Given the description of an element on the screen output the (x, y) to click on. 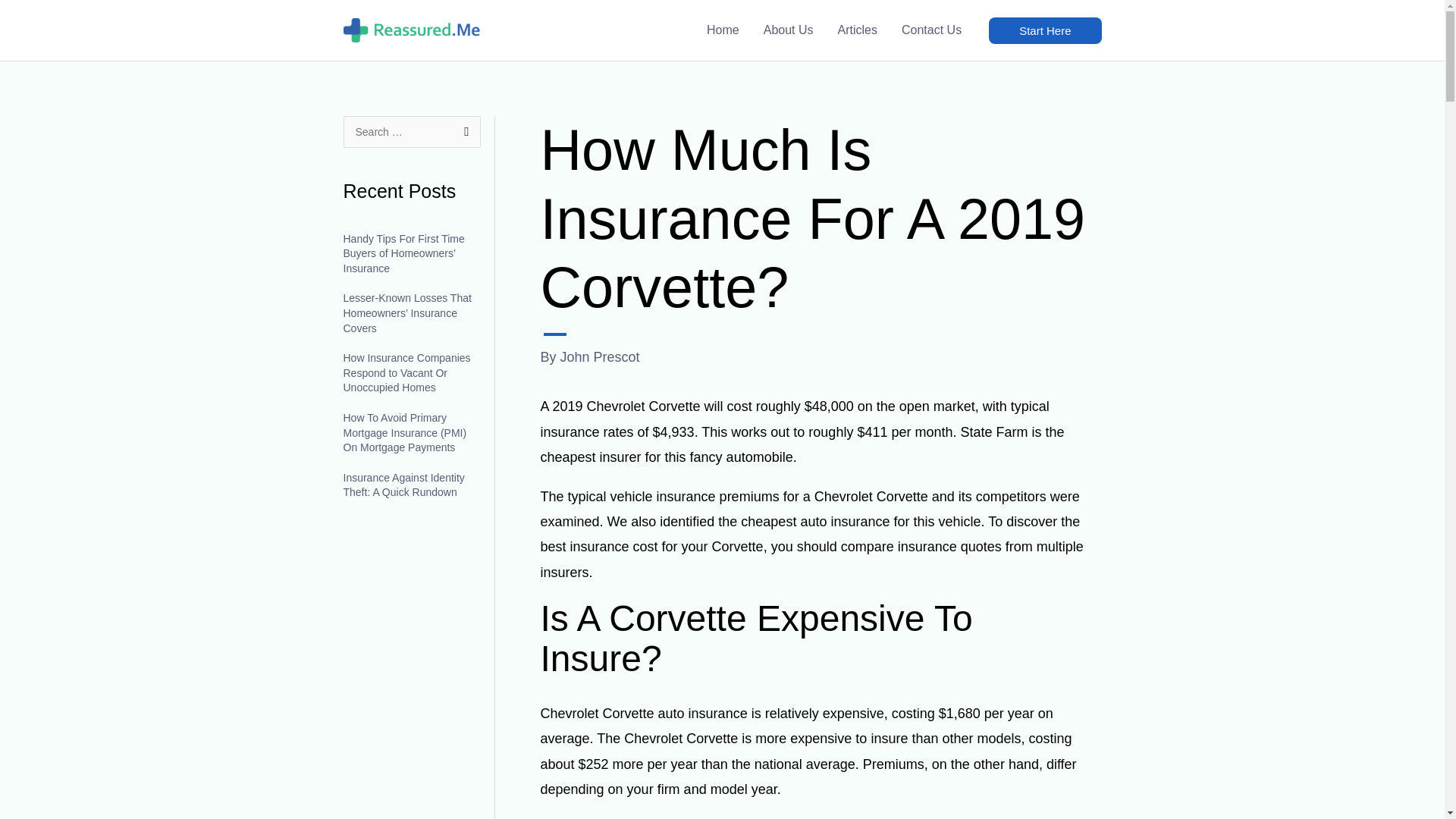
Search (462, 132)
Home (722, 30)
View all posts by John Prescot (600, 356)
Insurance Against Identity Theft: A Quick Rundown (403, 484)
Contact Us (931, 30)
Search (462, 132)
Search (462, 132)
John Prescot (600, 356)
Articles (857, 30)
About Us (788, 30)
Start Here (1044, 29)
